Given the description of an element on the screen output the (x, y) to click on. 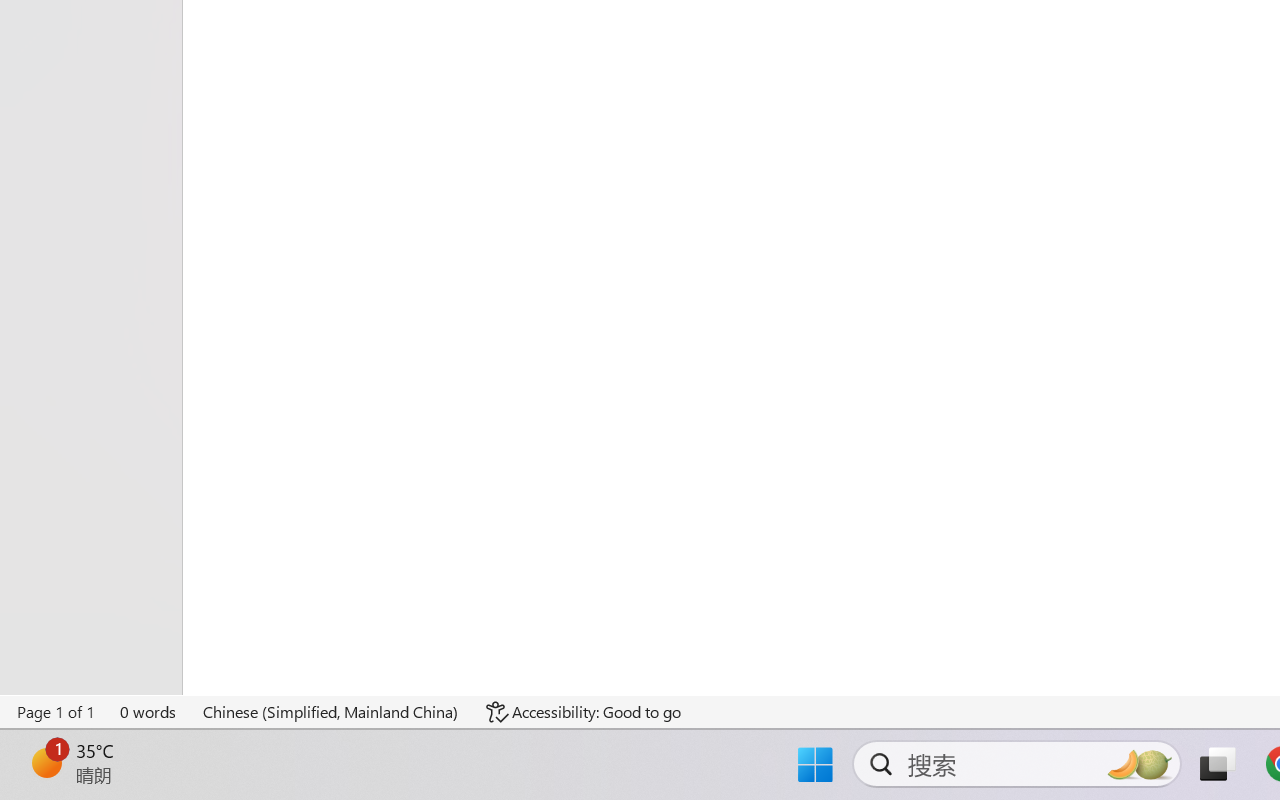
Language Chinese (Simplified, Mainland China) (331, 712)
